Given the description of an element on the screen output the (x, y) to click on. 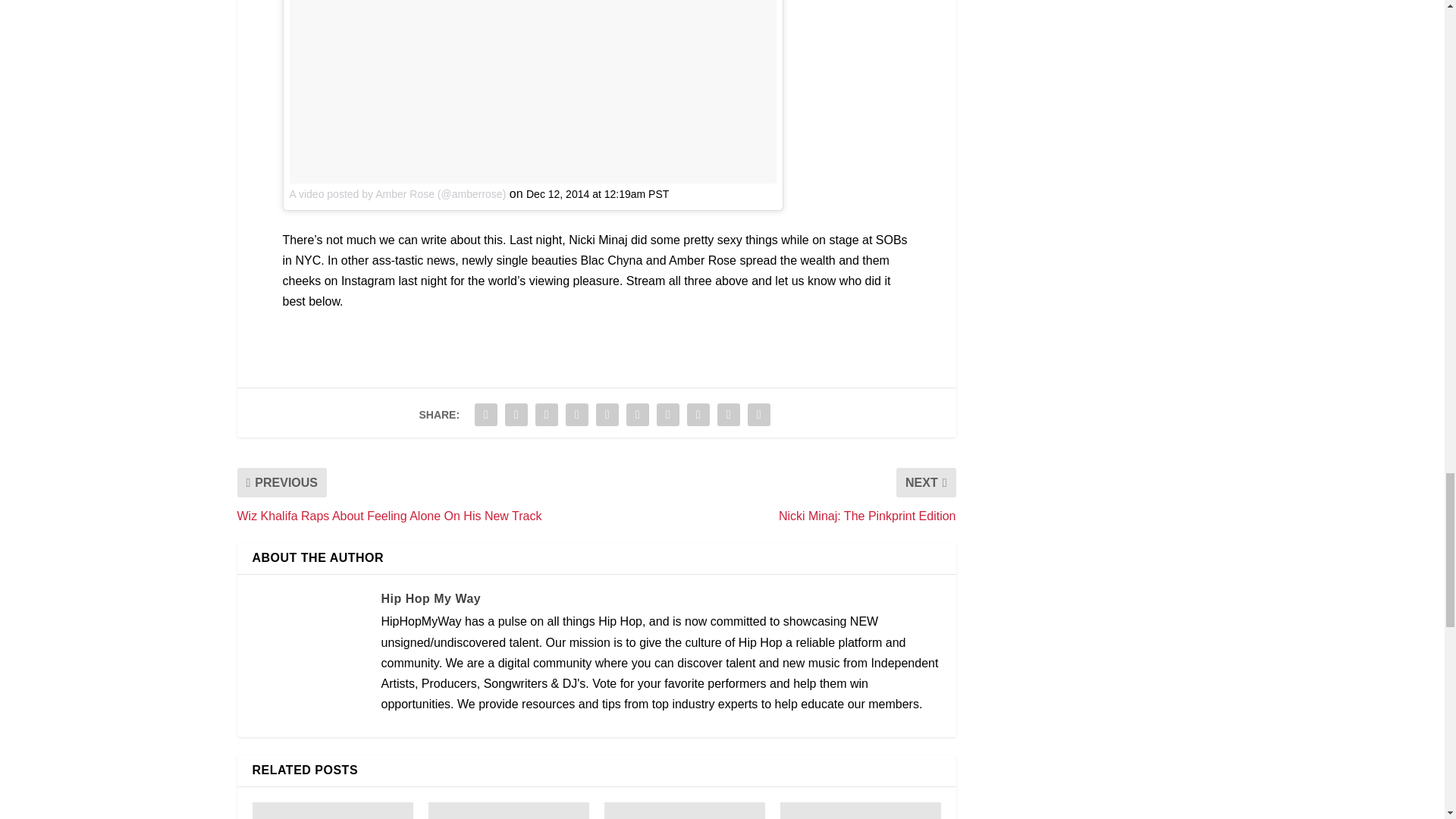
View all posts by Hip Hop My Way (430, 598)
Apple Plans For World Domination (508, 810)
Hip Hop My Way (430, 598)
